Given the description of an element on the screen output the (x, y) to click on. 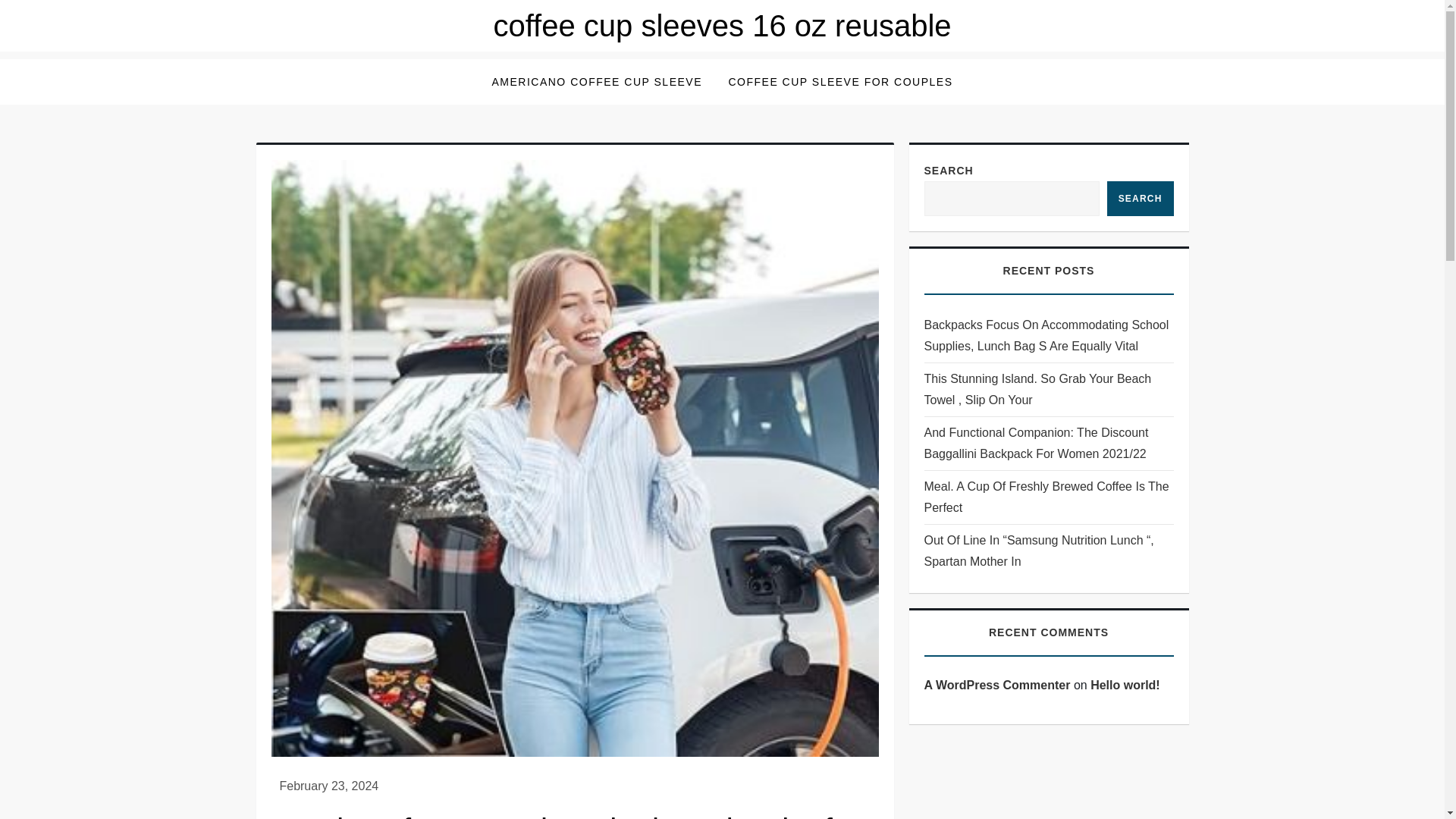
AMERICANO COFFEE CUP SLEEVE (596, 81)
SEARCH (1139, 198)
A WordPress Commenter (996, 684)
Hello world! (1125, 684)
coffee cup sleeves 16 oz reusable (721, 25)
COFFEE CUP SLEEVE FOR COUPLES (839, 81)
February 23, 2024 (328, 785)
Meal. A Cup Of Freshly Brewed Coffee Is The Perfect (1048, 496)
